Given the description of an element on the screen output the (x, y) to click on. 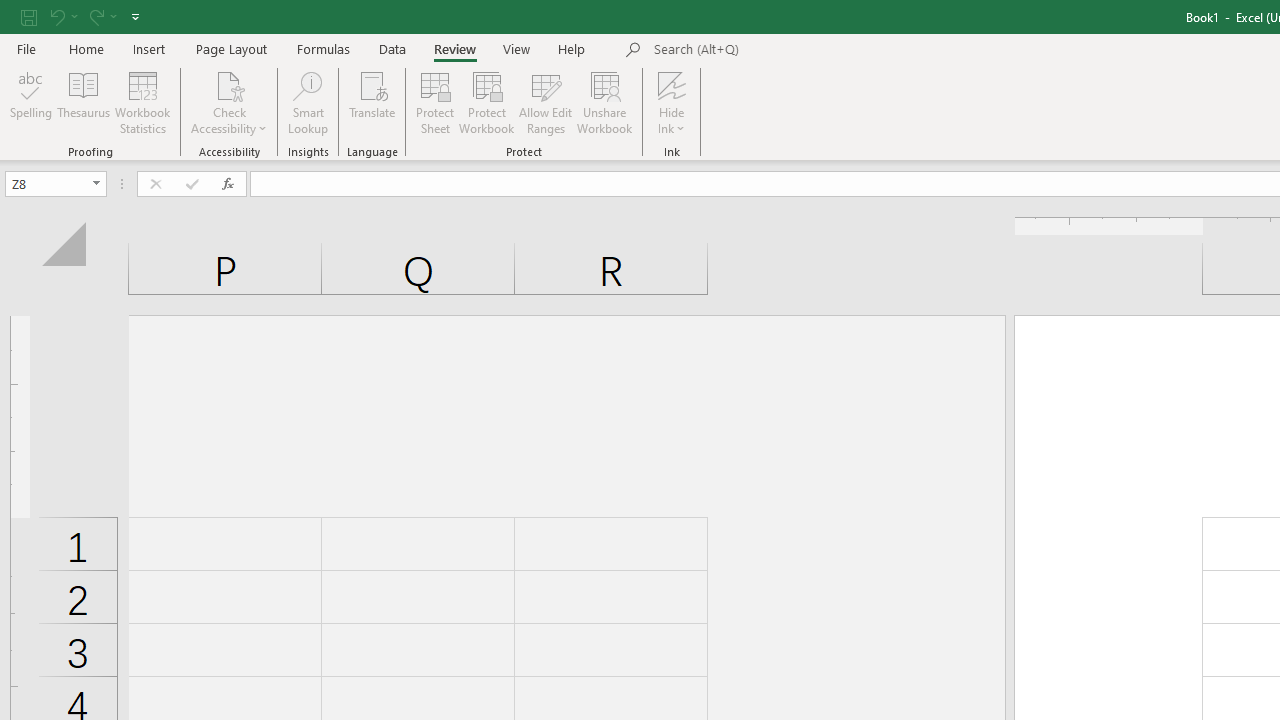
Open (96, 183)
Thesaurus... (83, 102)
Save (29, 15)
Insert (149, 48)
Protect Workbook... (486, 102)
Microsoft search (792, 49)
Home (86, 48)
Hide Ink (671, 102)
More Options (671, 121)
Formulas (323, 48)
